Given the description of an element on the screen output the (x, y) to click on. 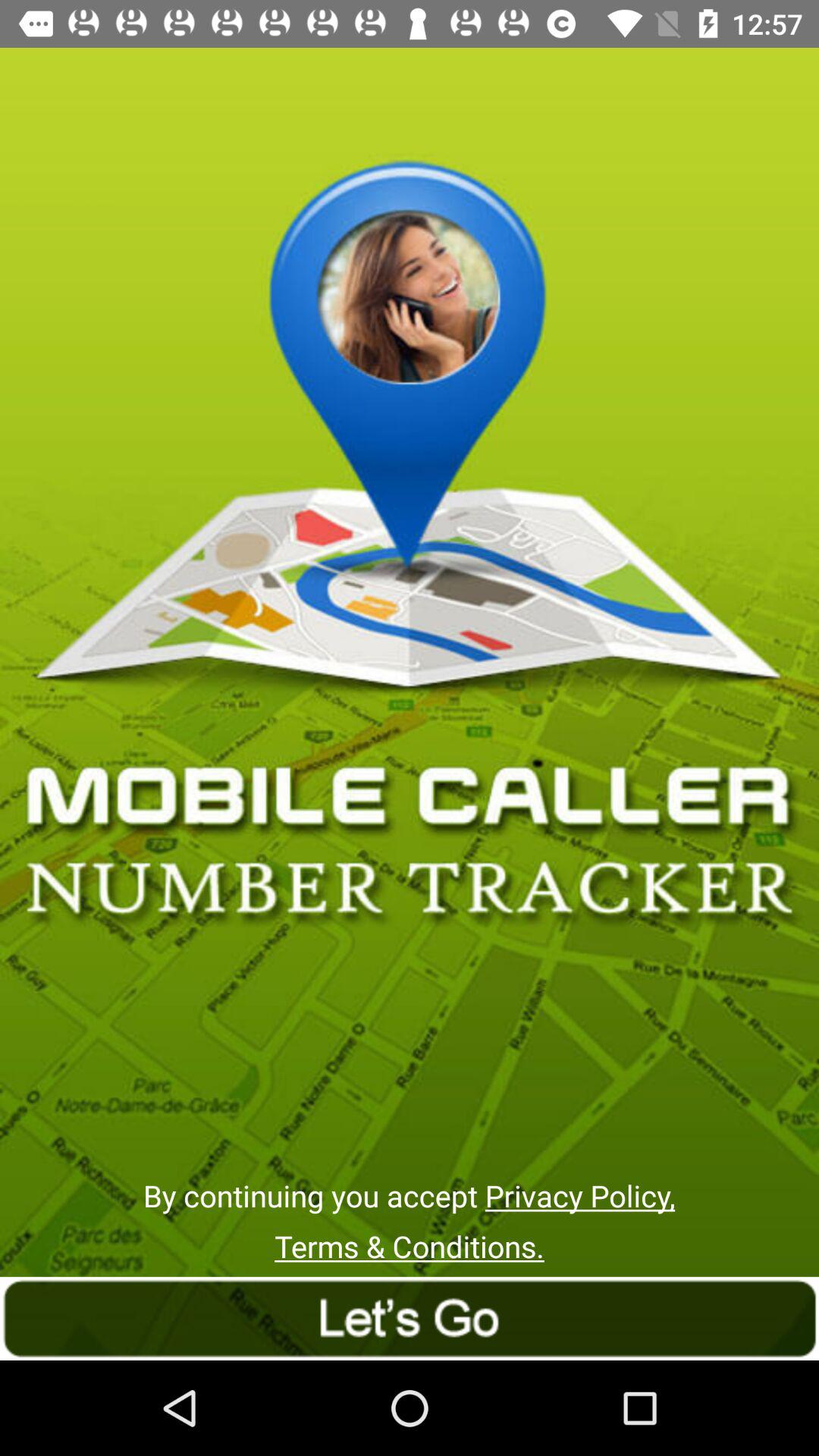
jump to the by continuing you item (409, 1195)
